Given the description of an element on the screen output the (x, y) to click on. 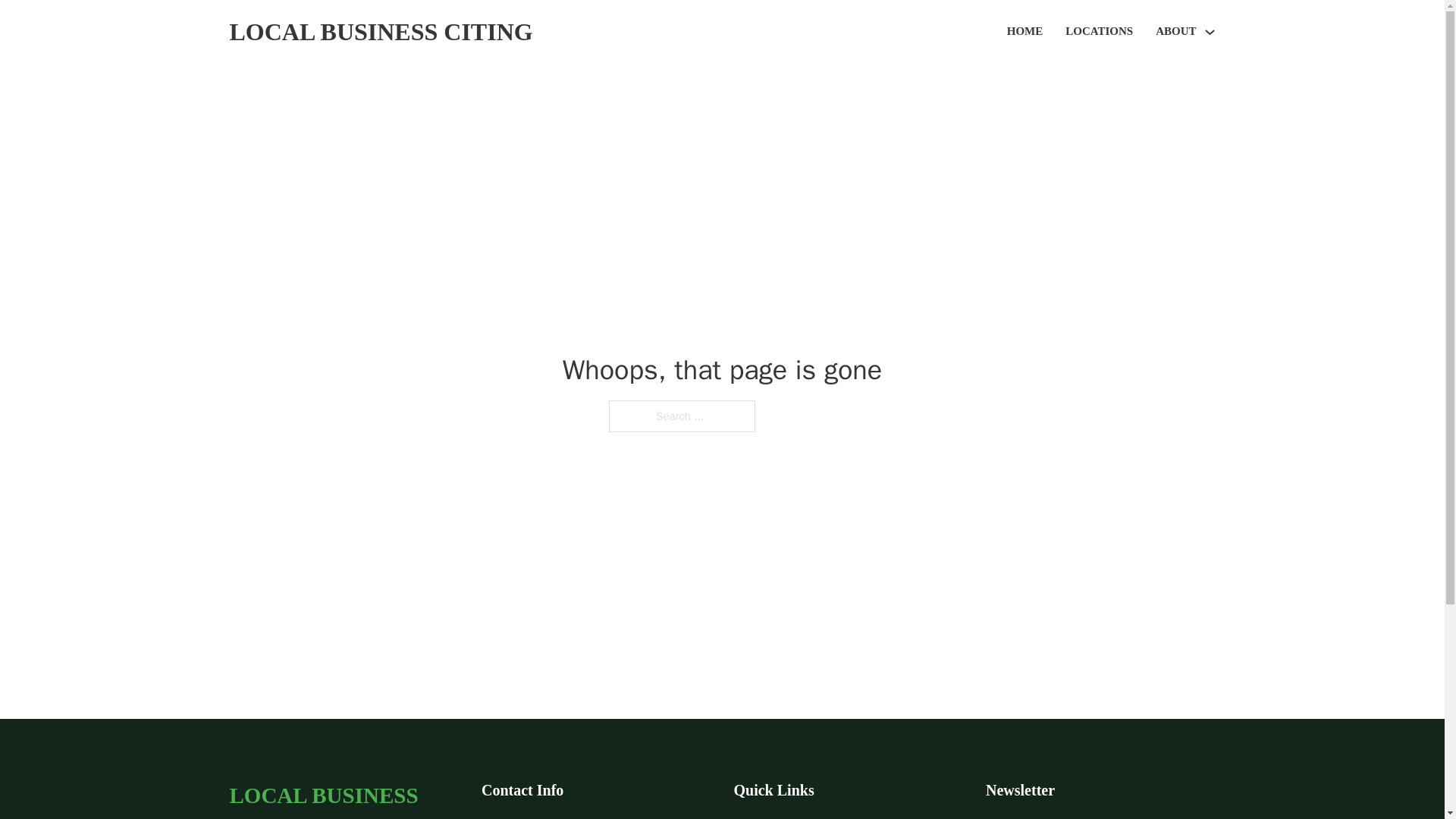
LOCAL BUSINESS CITING (343, 798)
LOCAL BUSINESS CITING (380, 31)
LOCATIONS (1098, 31)
HOME (1025, 31)
